Given the description of an element on the screen output the (x, y) to click on. 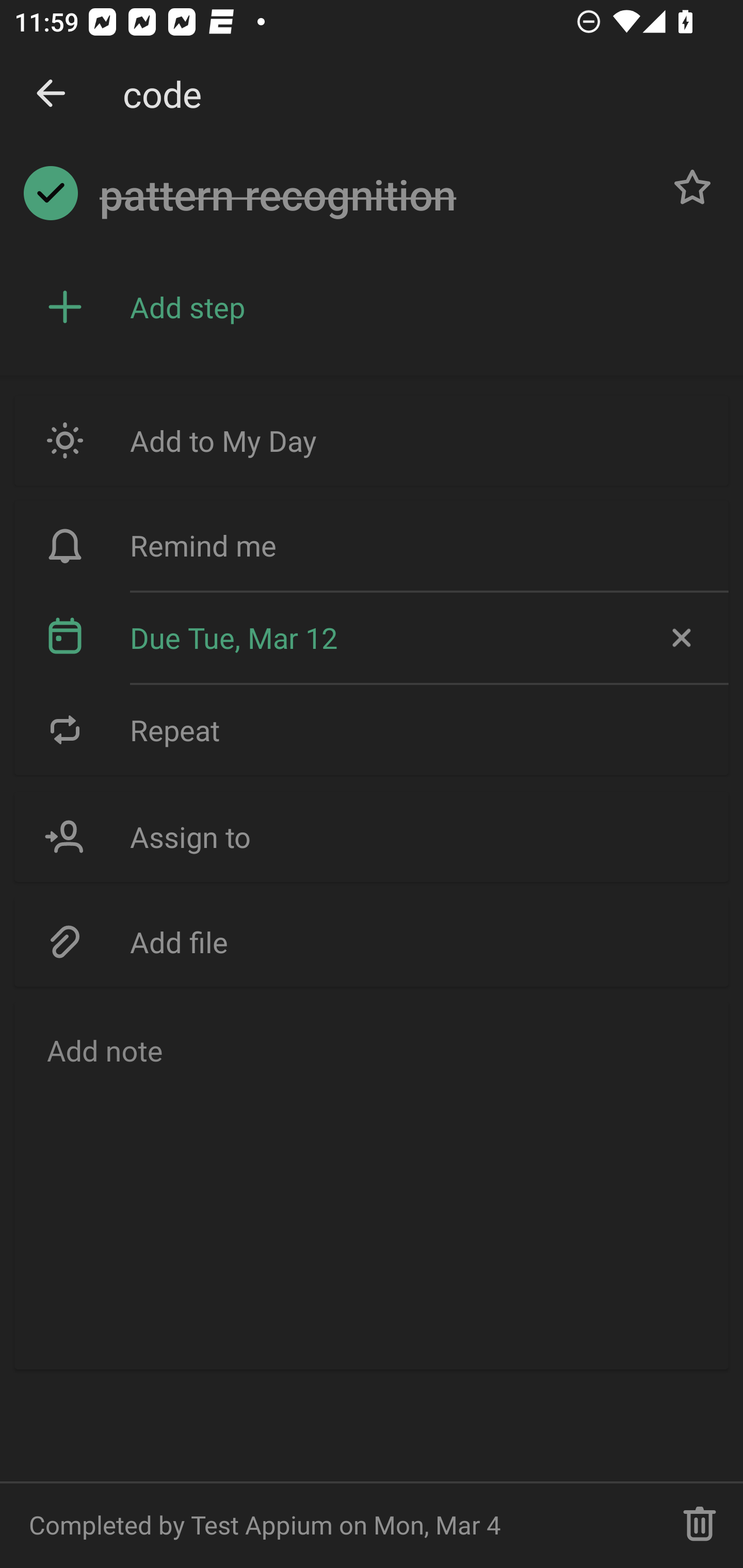
Dismiss detail view (50, 93)
Completed task pattern recognition, Button (50, 192)
pattern recognition (374, 195)
Normal task pattern recognition, Button (692, 187)
Add step (422, 307)
Add to My Day (371, 440)
Remind me (371, 545)
Due Tue, Mar 12 Due Tue, Mar 12 Remove due date (371, 637)
Remove due date (679, 637)
Repeat (371, 729)
Assign to (371, 836)
Add file (371, 941)
Add note, Button Email Renderer Add note (371, 1184)
Delete task (699, 1524)
